Given the description of an element on the screen output the (x, y) to click on. 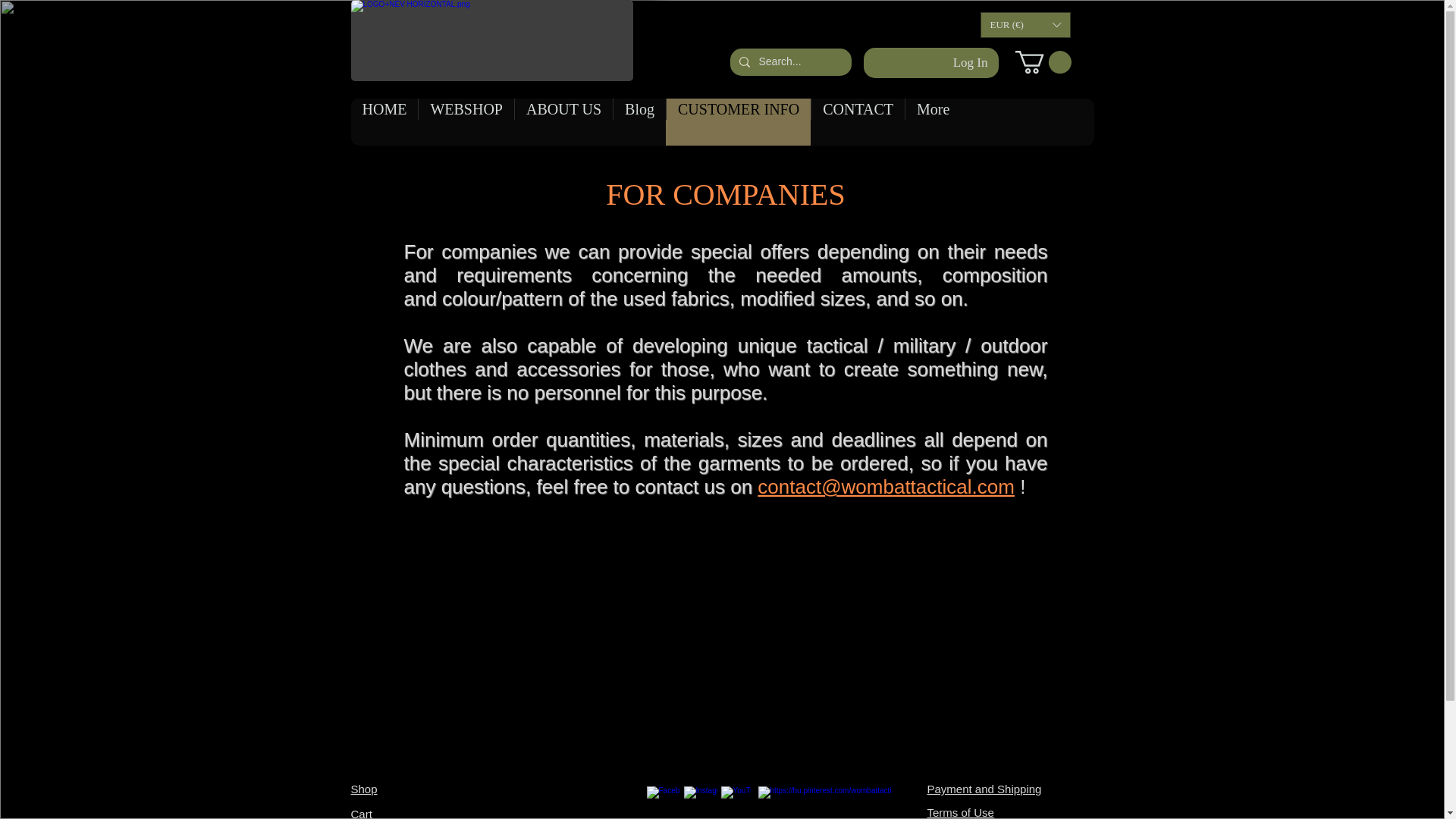
Log In (970, 62)
ABOUT US (562, 121)
CUSTOMER INFO (737, 121)
HOME (383, 121)
CONTACT (857, 121)
Blog (638, 121)
WEBSHOP (465, 121)
